Given the description of an element on the screen output the (x, y) to click on. 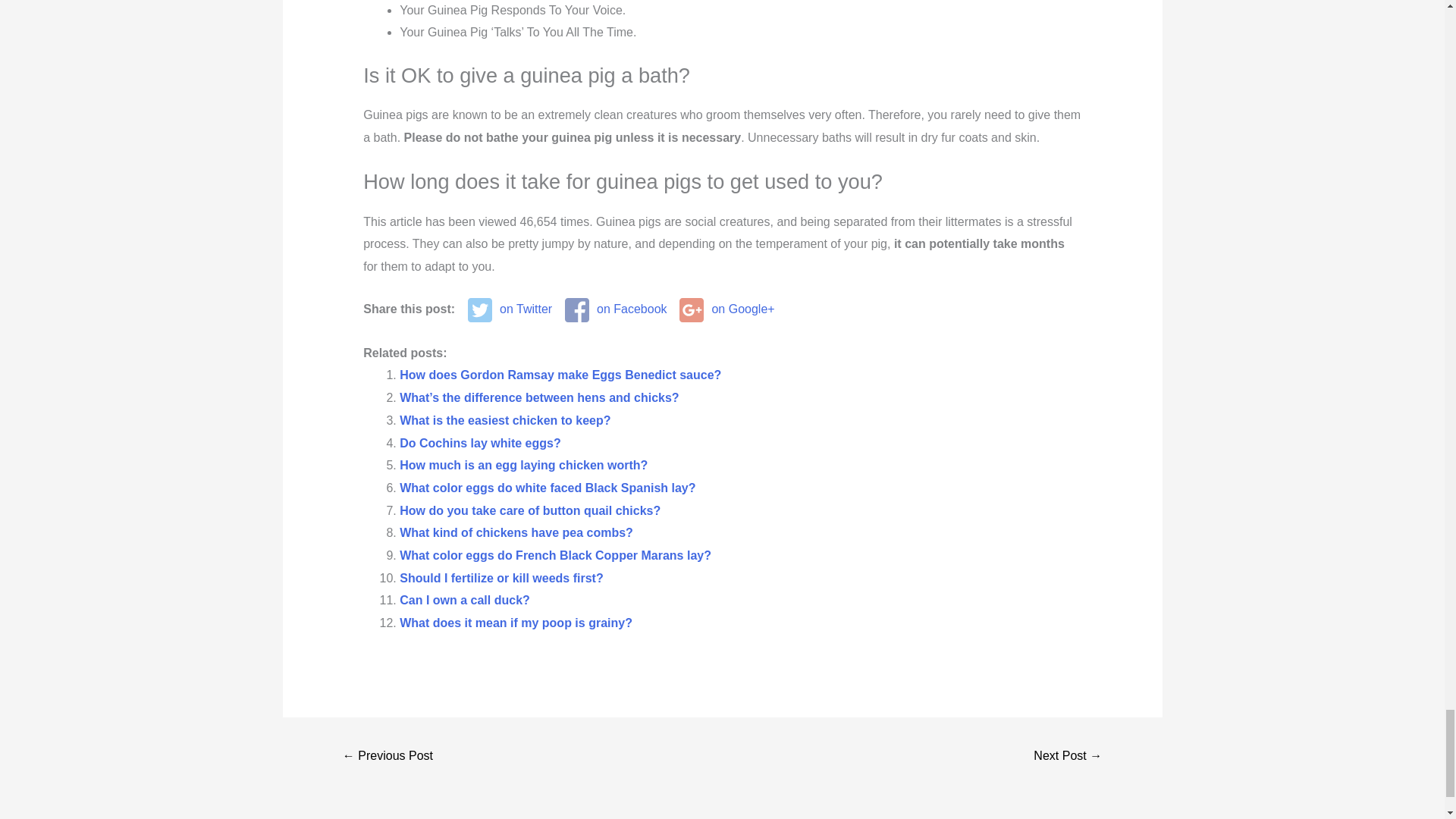
How much is an egg laying chicken worth? (522, 464)
What kind of chickens have pea combs? (515, 532)
How much is an egg laying chicken worth? (522, 464)
on Twitter (510, 309)
How does Gordon Ramsay make Eggs Benedict sauce? (559, 374)
What color eggs do white faced Black Spanish lay? (546, 487)
Do Cochins lay white eggs? (479, 442)
What is the easiest chicken to keep? (504, 420)
What is the easiest chicken to keep? (504, 420)
How does Gordon Ramsay make Eggs Benedict sauce? (559, 374)
